Given the description of an element on the screen output the (x, y) to click on. 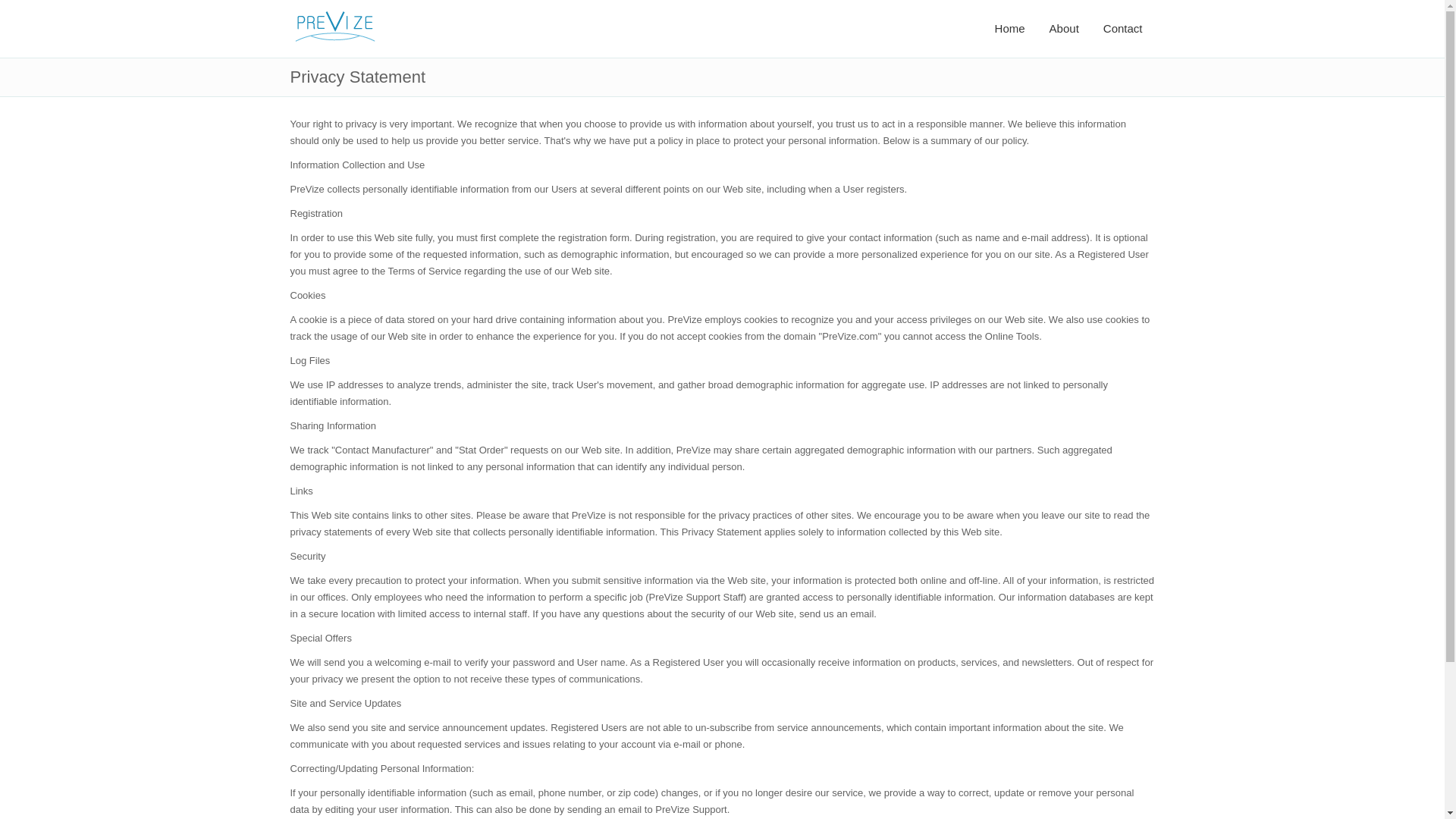
Contact (1122, 28)
About (1063, 28)
Home (1009, 28)
